Given the description of an element on the screen output the (x, y) to click on. 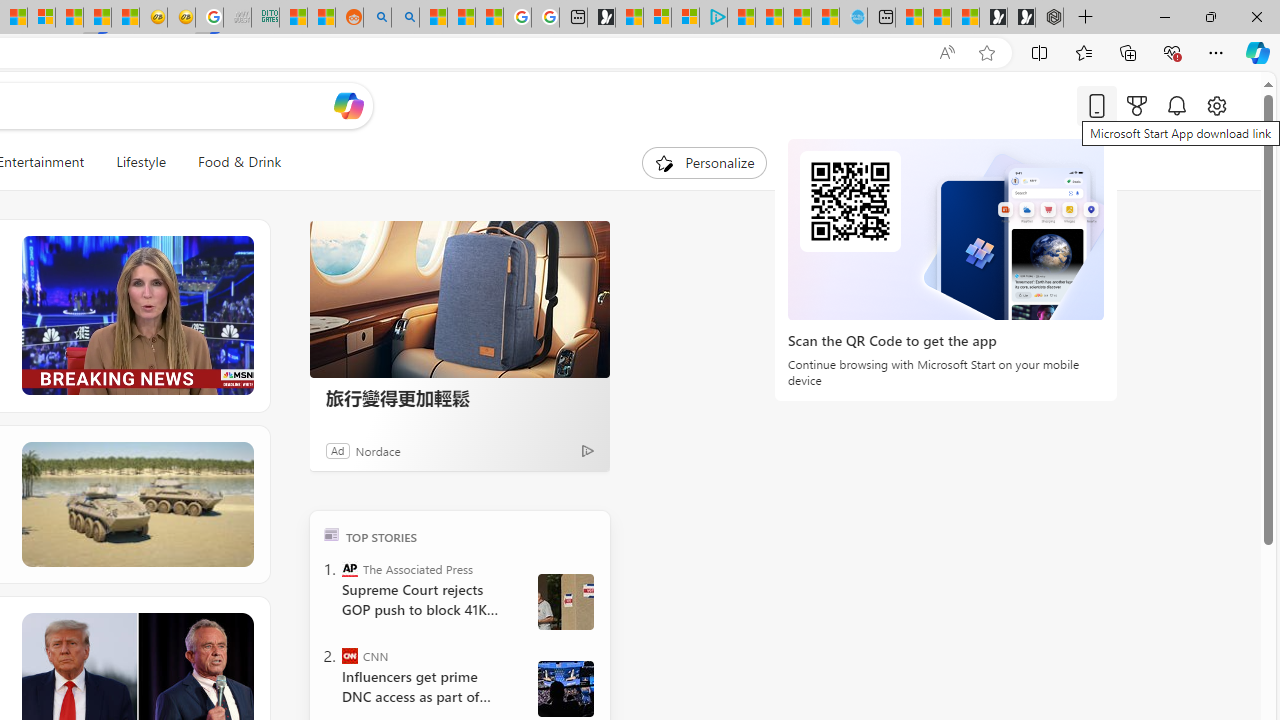
 ATS_2336.jpg (565, 688)
TOP (331, 534)
